Given the description of an element on the screen output the (x, y) to click on. 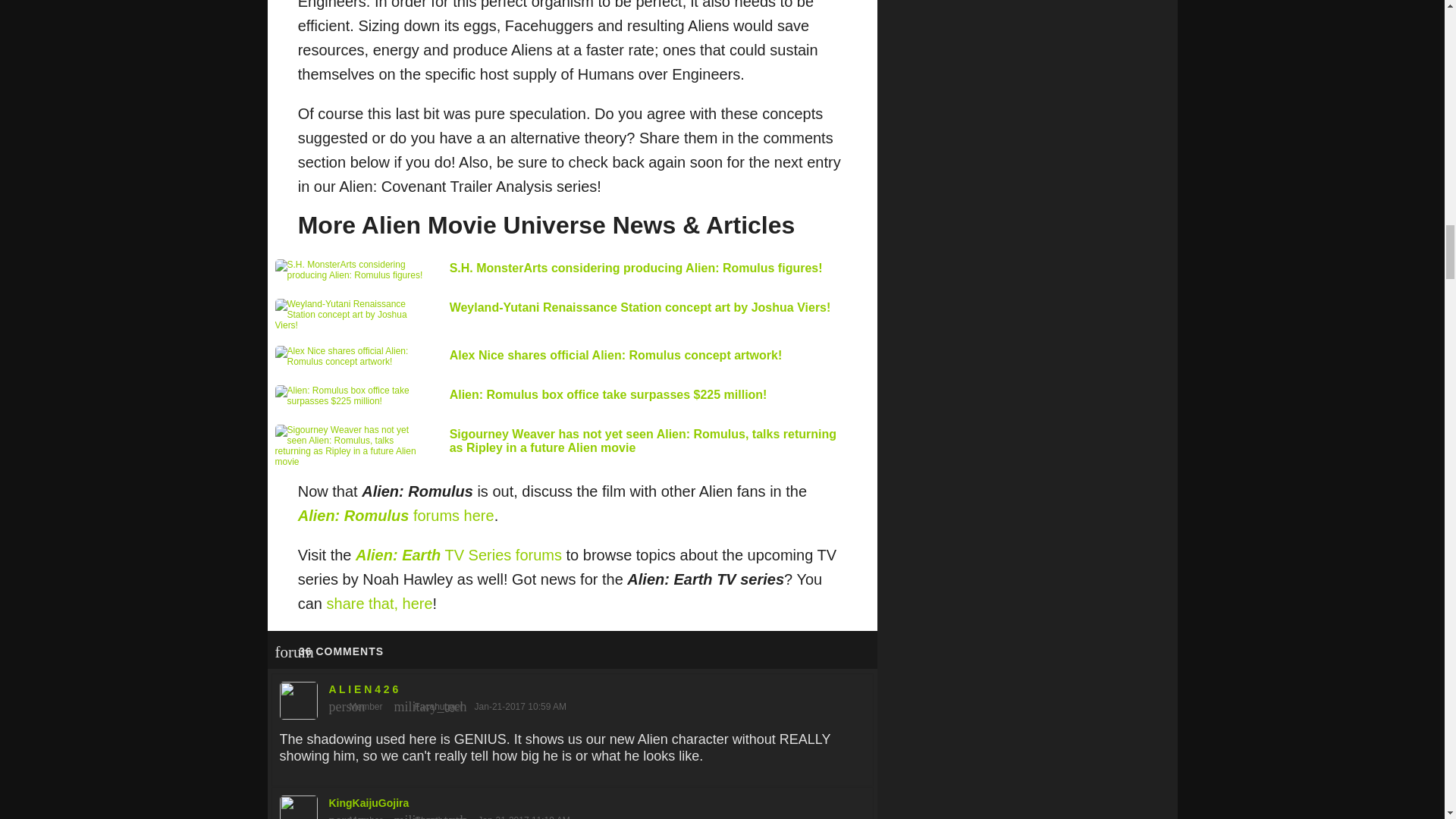
Alex Nice shares official Alien: Romulus concept artwork! (616, 354)
Alex Nice shares official Alien: Romulus concept artwork! (616, 354)
Alex Nice shares official Alien: Romulus concept artwork! (349, 355)
A L I E N 4 2 6 (571, 696)
share that, here (379, 603)
Alien: Romulus forums here (396, 515)
